Given the description of an element on the screen output the (x, y) to click on. 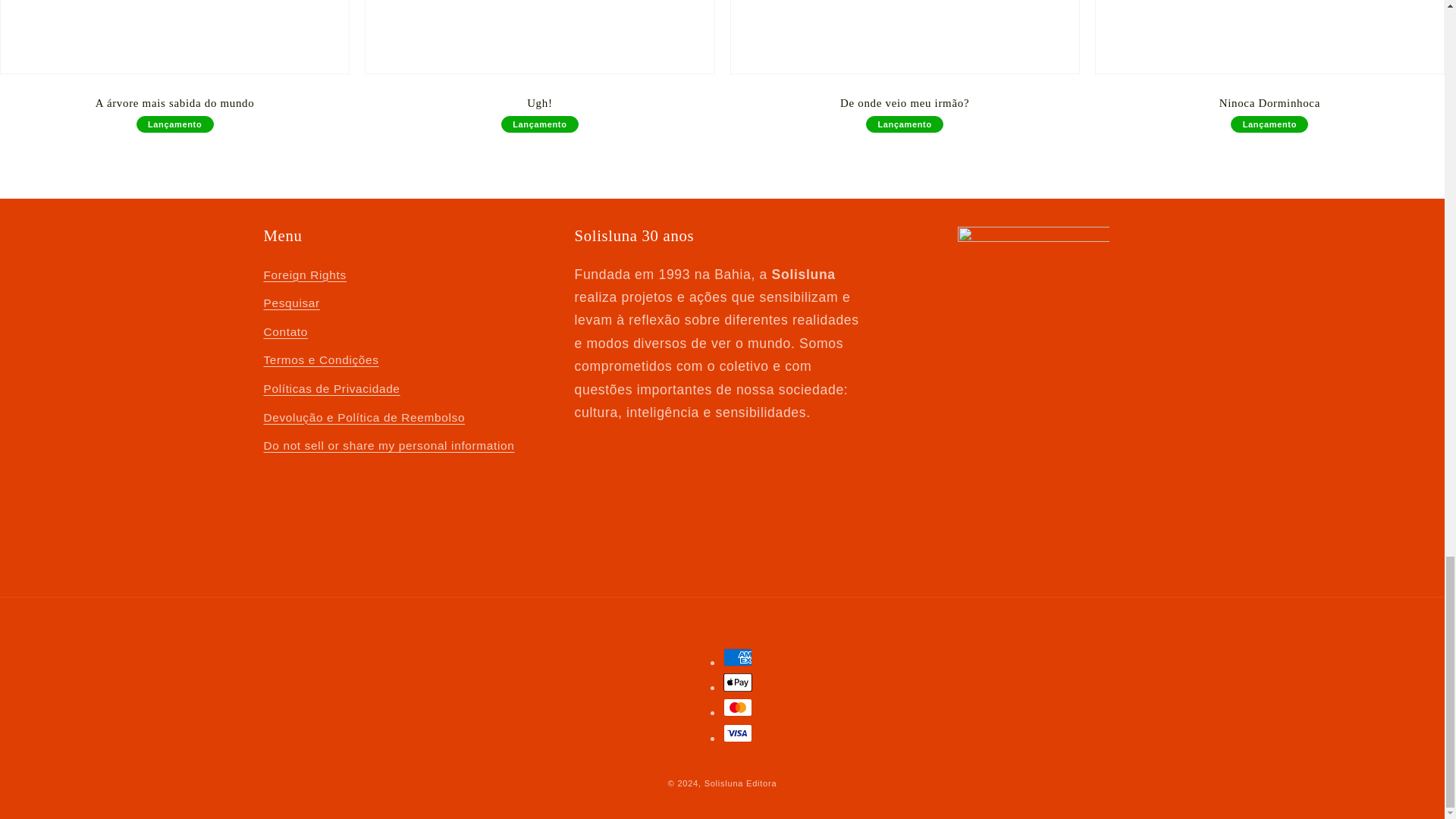
Apple Pay (737, 682)
Mastercard (737, 707)
American Express (737, 657)
Visa (737, 732)
